Given the description of an element on the screen output the (x, y) to click on. 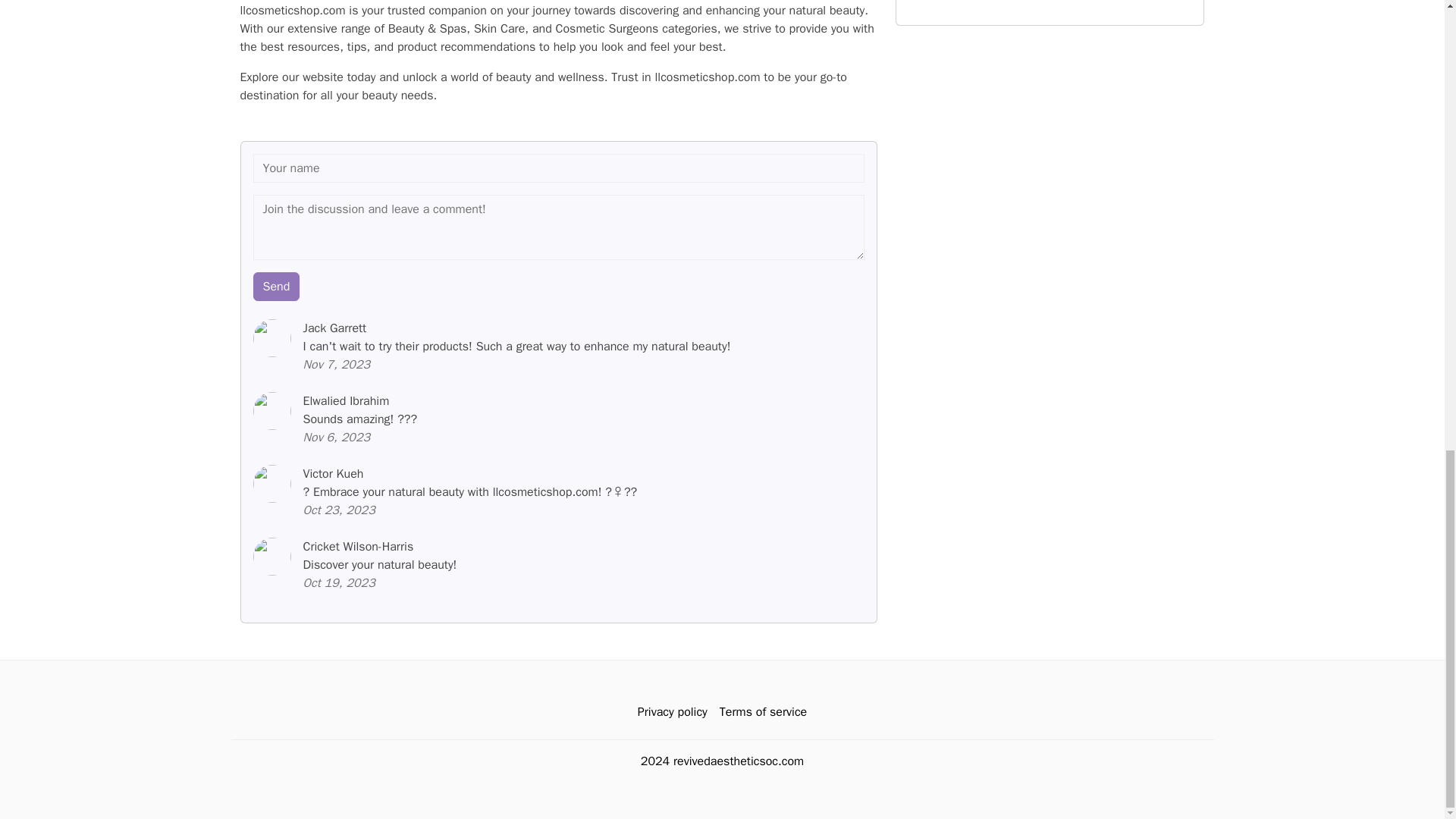
Send (276, 286)
Send (276, 286)
Privacy policy (672, 711)
Terms of service (762, 711)
